Given the description of an element on the screen output the (x, y) to click on. 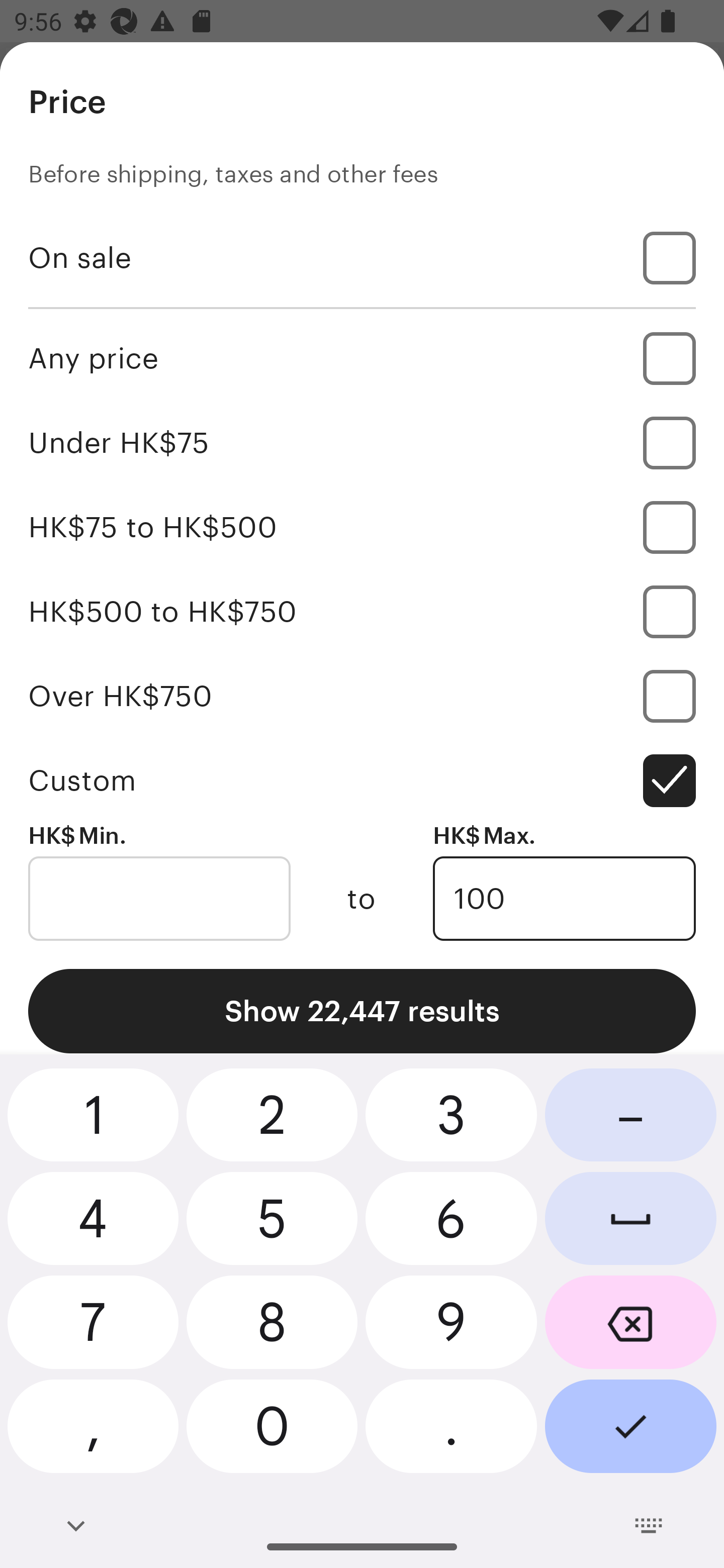
On sale (362, 257)
Any price (362, 357)
Under HK$75 (362, 441)
HK$75 to HK$500 (362, 526)
HK$500 to HK$750 (362, 611)
Over HK$750 (362, 695)
Custom (362, 780)
100 (563, 898)
Show 22,447 results (361, 1011)
